Given the description of an element on the screen output the (x, y) to click on. 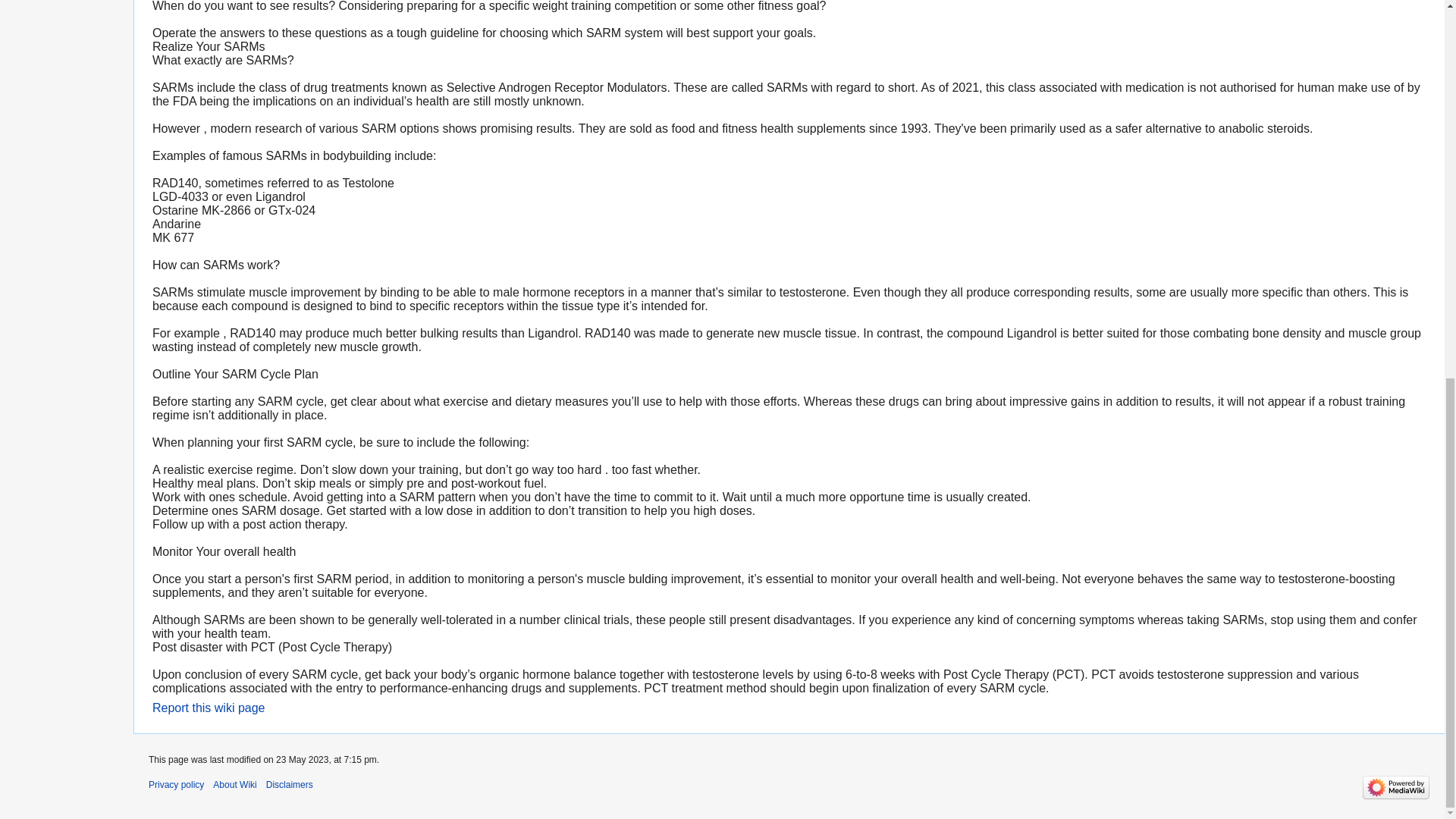
About Wiki (234, 784)
Disclaimers (289, 784)
Report this wiki page (208, 707)
Privacy policy (175, 784)
